Given the description of an element on the screen output the (x, y) to click on. 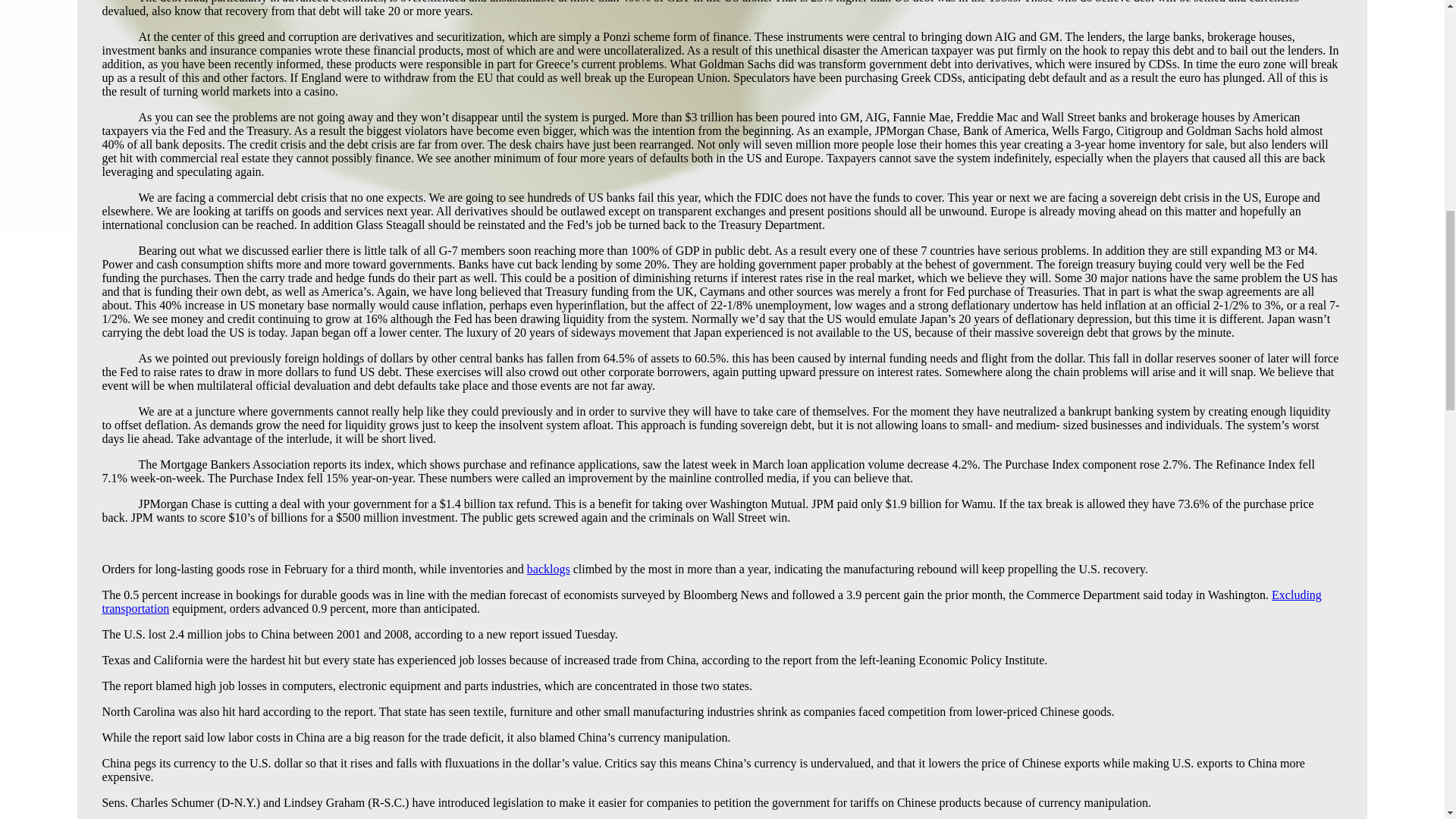
Excluding transportation (710, 601)
backlogs (548, 568)
